Given the description of an element on the screen output the (x, y) to click on. 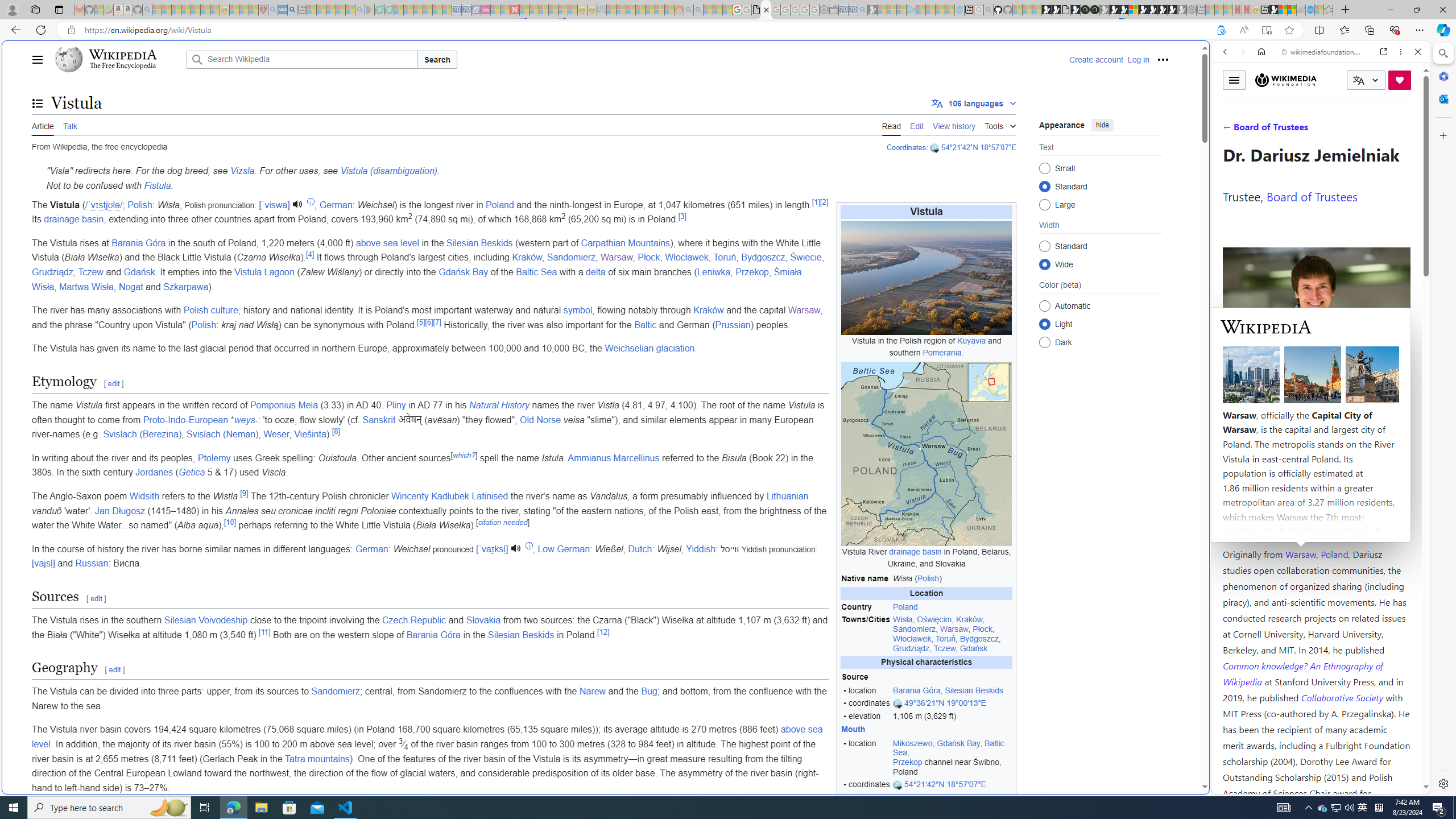
Carpathian Mountains (625, 242)
Przekop (751, 271)
Native name (865, 578)
Cheap Hotels - Save70.com - Sleeping (466, 9)
Home | Sky Blue Bikes - Sky Blue Bikes - Sleeping (959, 9)
[9] (244, 492)
Class: b_serphb (1404, 130)
Toggle menu (1233, 80)
Source (865, 676)
